Given the description of an element on the screen output the (x, y) to click on. 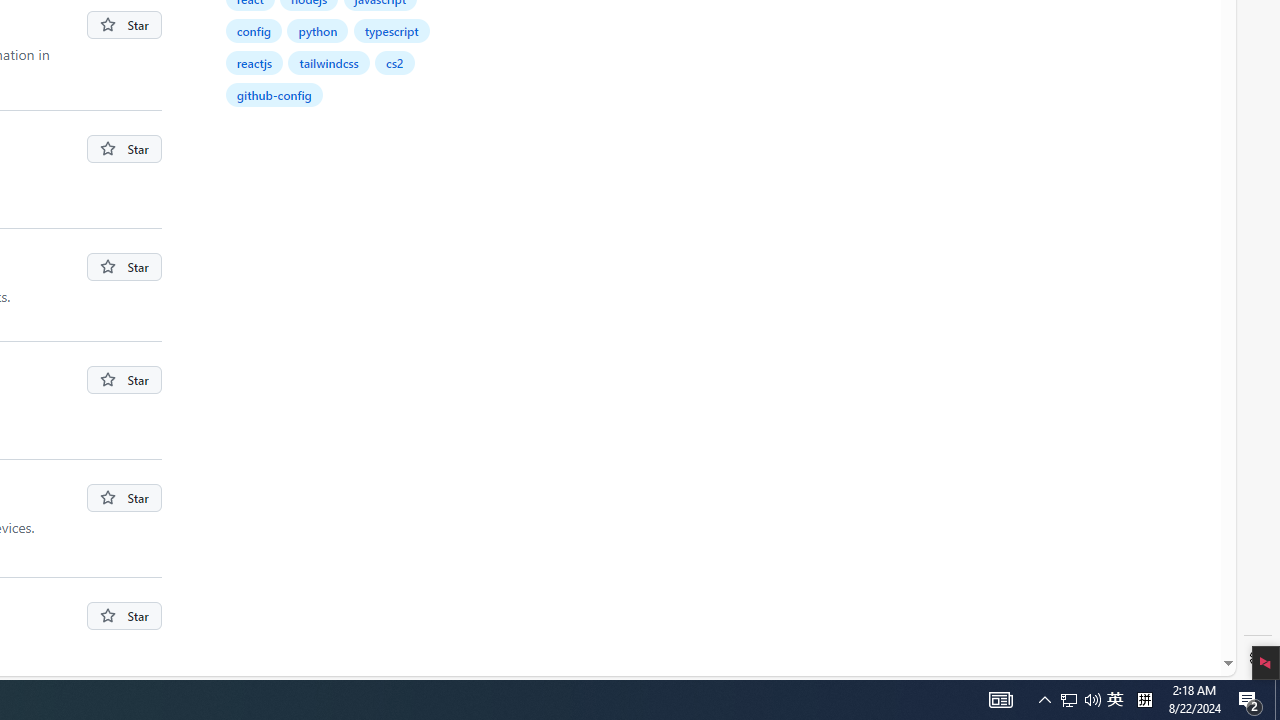
reactjs (255, 62)
reactjs (254, 62)
python (317, 30)
You must be signed in to star a repository (124, 615)
typescript (392, 30)
python (317, 30)
cs2 (396, 62)
config (254, 30)
tailwindcss (330, 62)
typescript (391, 30)
config (253, 30)
tailwindcss (328, 62)
cs2 (394, 62)
github-config (273, 94)
